Given the description of an element on the screen output the (x, y) to click on. 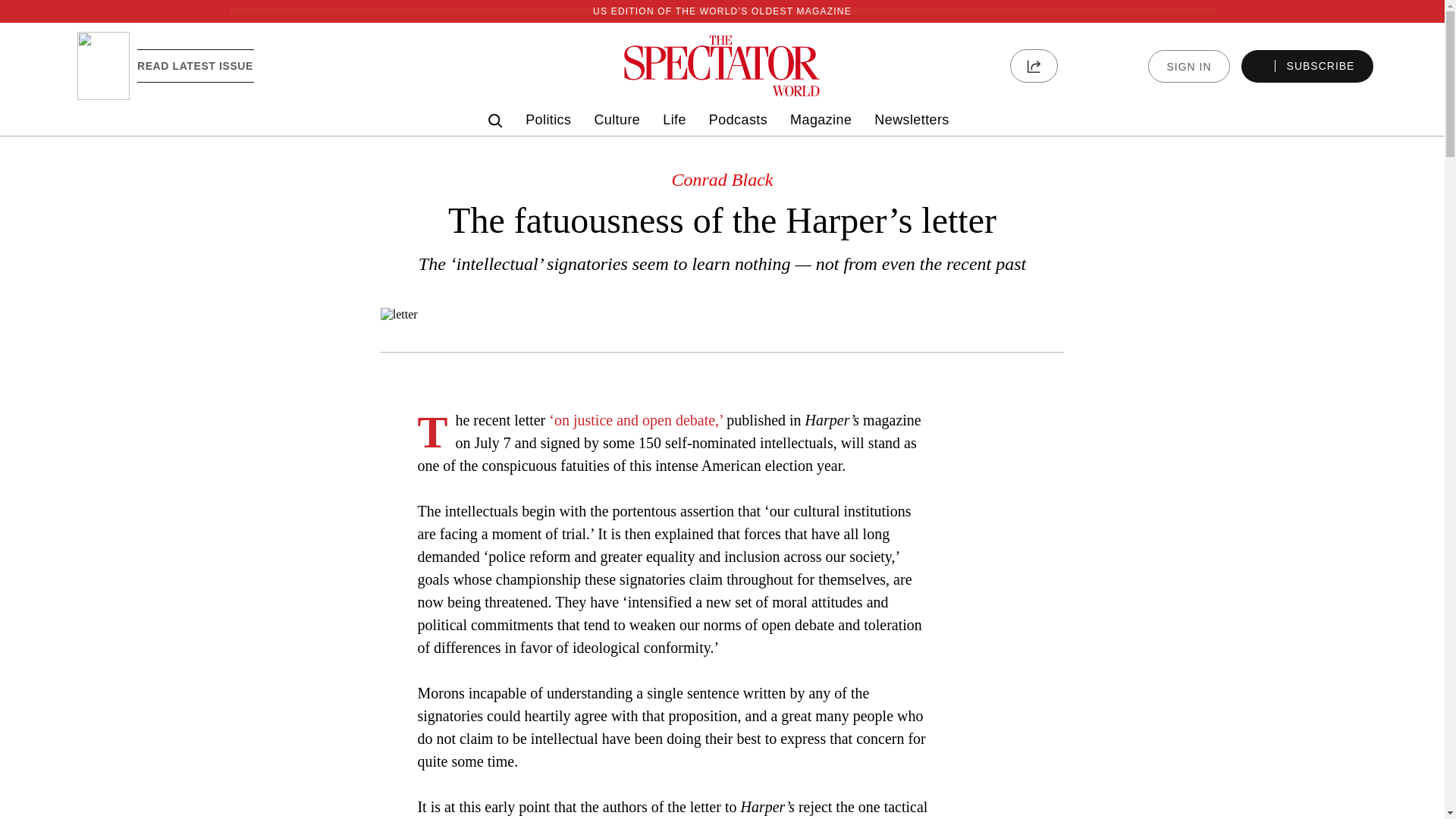
SIGN IN (1188, 65)
SUBSCRIBE (1307, 65)
Politics (547, 119)
Conrad Black (722, 179)
READ LATEST ISSUE (194, 65)
Newsletters (911, 119)
Life (673, 119)
Culture (616, 119)
Magazine (820, 119)
Podcasts (737, 119)
